Given the description of an element on the screen output the (x, y) to click on. 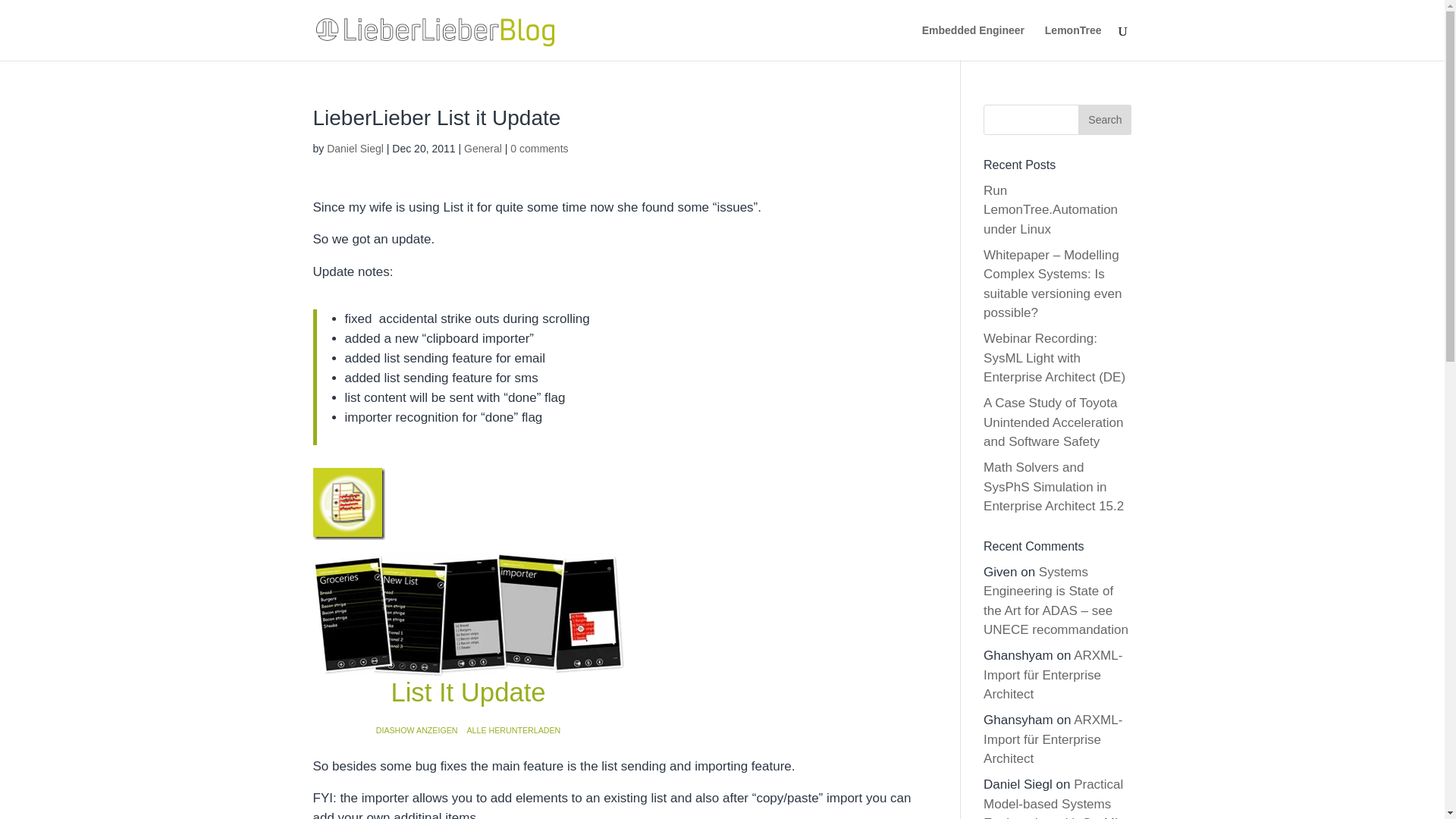
DIASHOW ANZEIGEN (416, 729)
Posts by Daniel Siegl (355, 148)
0 comments (539, 148)
ALLE HERUNTERLADEN (513, 729)
Run LemonTree.Automation under Linux (1051, 209)
List It Update (467, 697)
Search (1104, 119)
LemonTree (1073, 42)
Search (1104, 119)
